Given the description of an element on the screen output the (x, y) to click on. 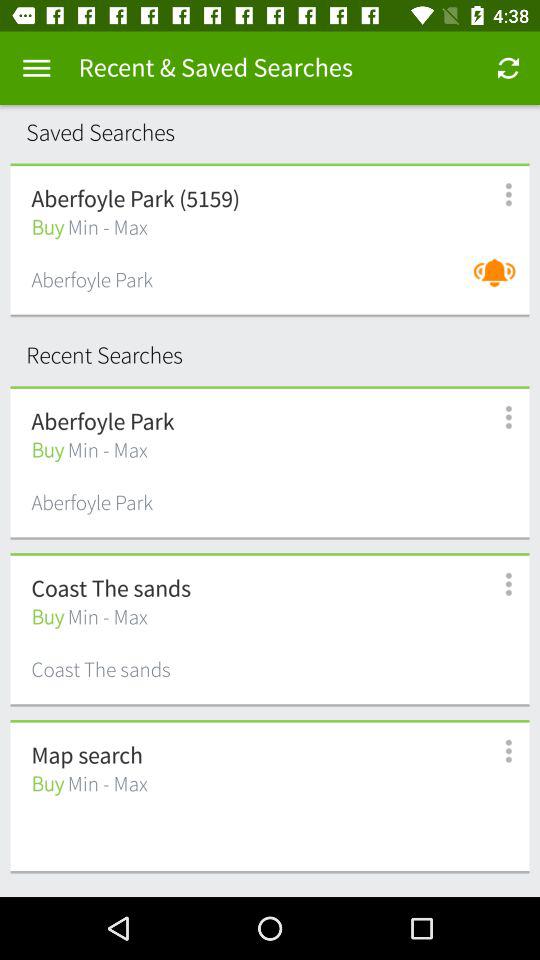
turn on sound (499, 282)
